Given the description of an element on the screen output the (x, y) to click on. 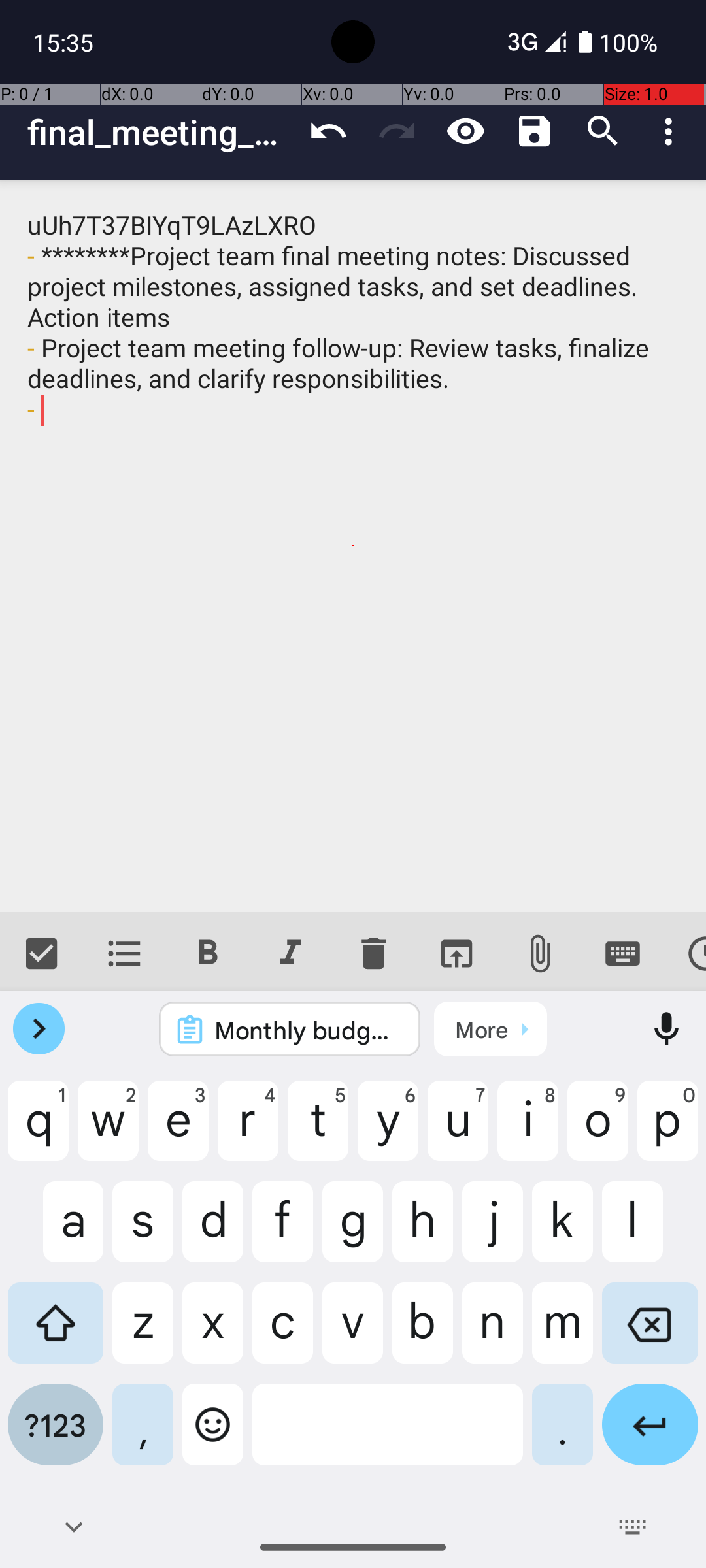
final_meeting_notes_project_team Element type: android.widget.TextView (160, 131)
uUh7T37BIYqT9LAzLXRO
- ********Project team final meeting notes: Discussed project milestones, assigned tasks, and set deadlines. Action items
- Project team meeting follow-up: Review tasks, finalize deadlines, and clarify responsibilities.
-  Element type: android.widget.EditText (353, 545)
Monthly budget meeting pushed to Friday. Element type: android.widget.TextView (306, 1029)
